Given the description of an element on the screen output the (x, y) to click on. 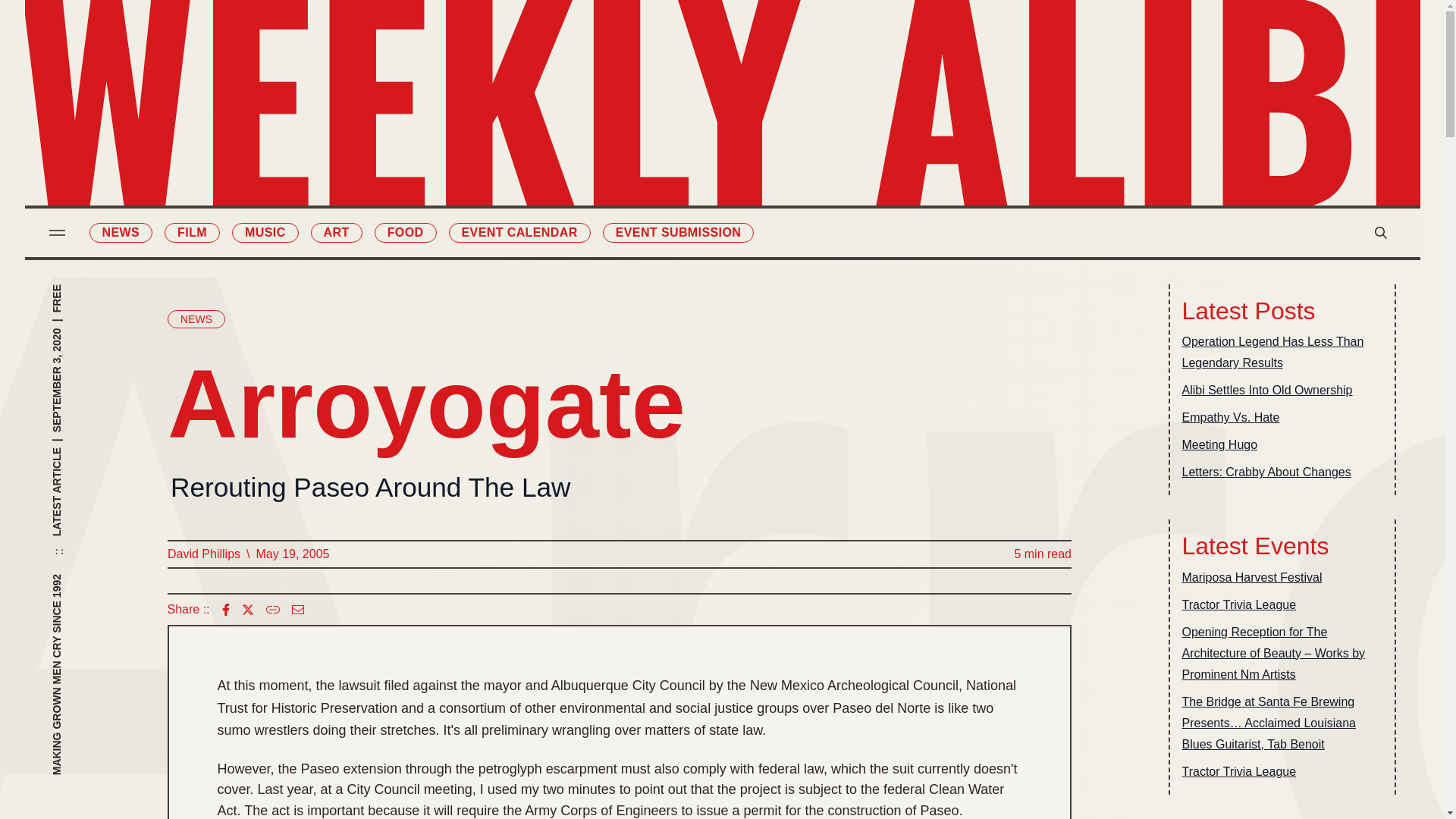
NEWS (120, 232)
NEWS (195, 319)
EVENT SUBMISSION (678, 232)
ART (336, 232)
EVENT CALENDAR (519, 232)
FILM (191, 232)
FOOD (405, 232)
MUSIC (264, 232)
David Phillips (203, 554)
